Given the description of an element on the screen output the (x, y) to click on. 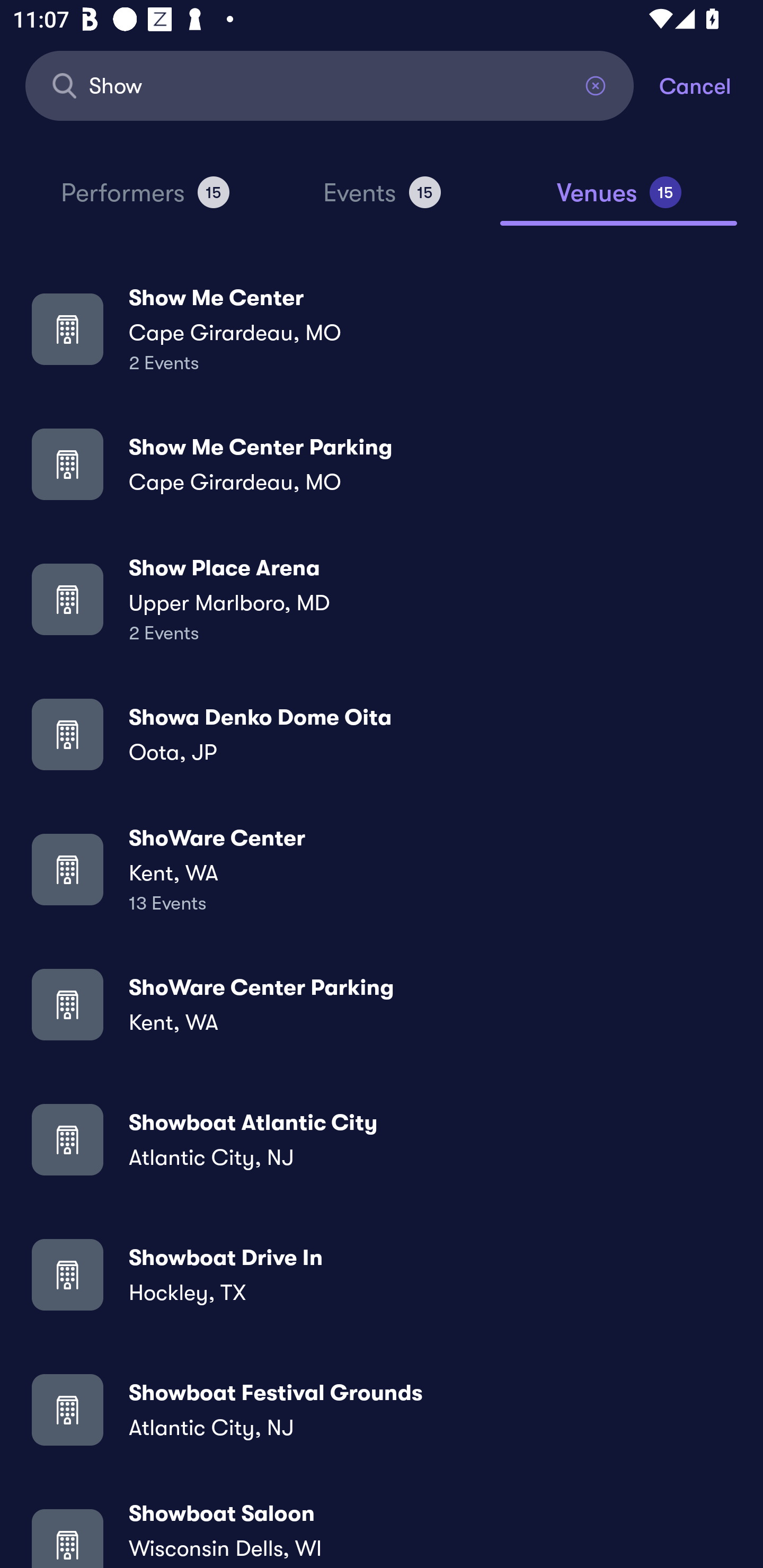
Show Find (329, 85)
Show Find (329, 85)
Cancel (711, 85)
Performers 15 (144, 200)
Events 15 (381, 200)
Venues 15 (618, 200)
Show Me Center Cape Girardeau, MO 2 Events (381, 328)
Show Me Center Parking Cape Girardeau, MO (381, 464)
Show Place Arena Upper Marlboro, MD 2 Events (381, 598)
Showa Denko Dome Oita Oota, JP (381, 734)
ShoWare Center Kent, WA 13 Events (381, 869)
ShoWare Center Parking Kent, WA (381, 1004)
Showboat Atlantic City Atlantic City, NJ (381, 1138)
Showboat Drive In Hockley, TX (381, 1273)
Showboat Festival Grounds Atlantic City, NJ (381, 1409)
Showboat Saloon Wisconsin Dells, WI 2 Events (381, 1532)
